Given the description of an element on the screen output the (x, y) to click on. 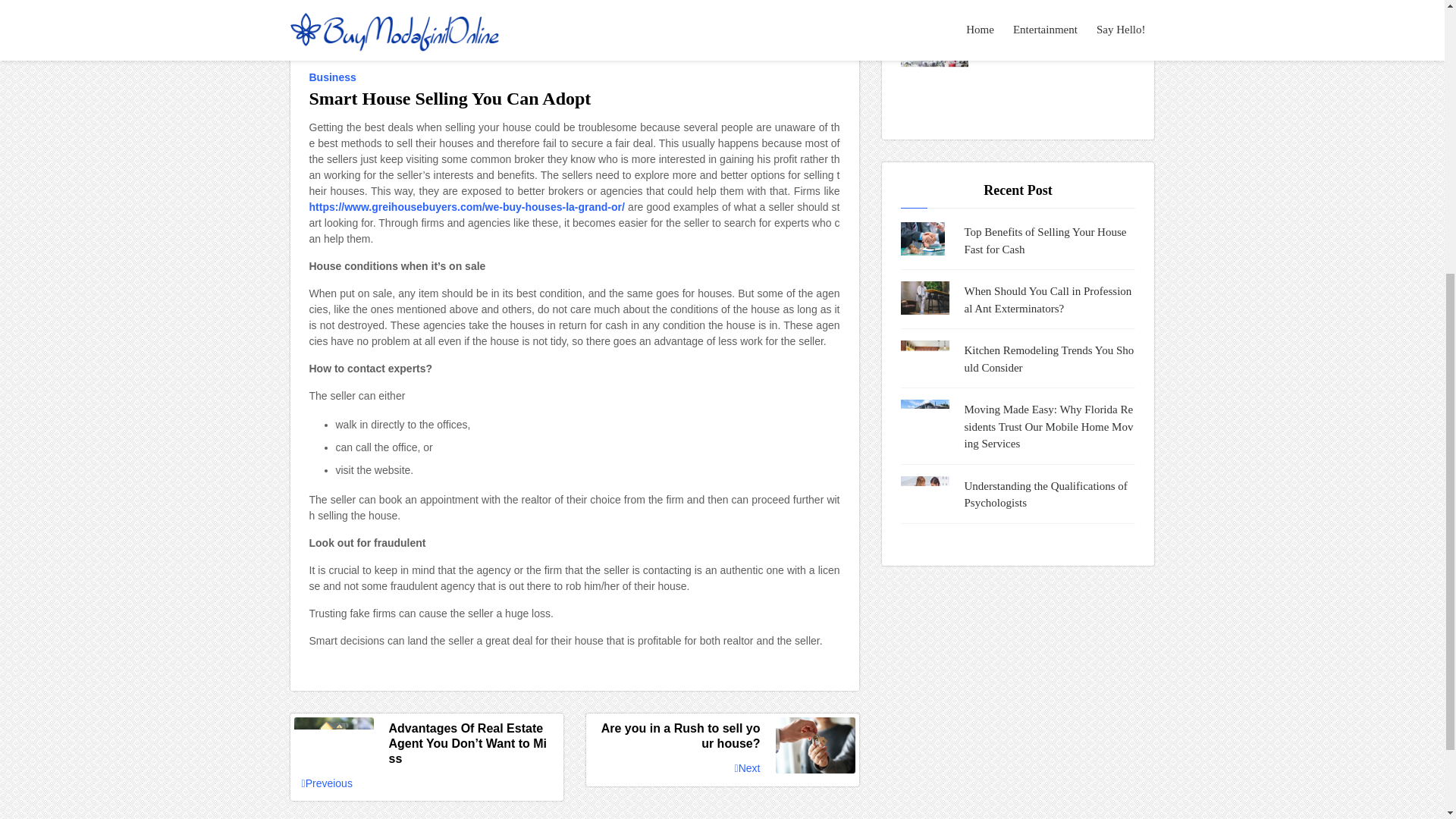
Are you in a Rush to sell your house? (721, 736)
Preveious (326, 783)
Kitchen Remodeling Trends You Should Consider (1049, 358)
Top Benefits of Selling Your House Fast for Cash (1049, 240)
When Should You Call in Professional Ant Exterminators? (1049, 299)
Understanding the Qualifications of Psychologists (1049, 494)
Next (747, 768)
Business (334, 76)
